Given the description of an element on the screen output the (x, y) to click on. 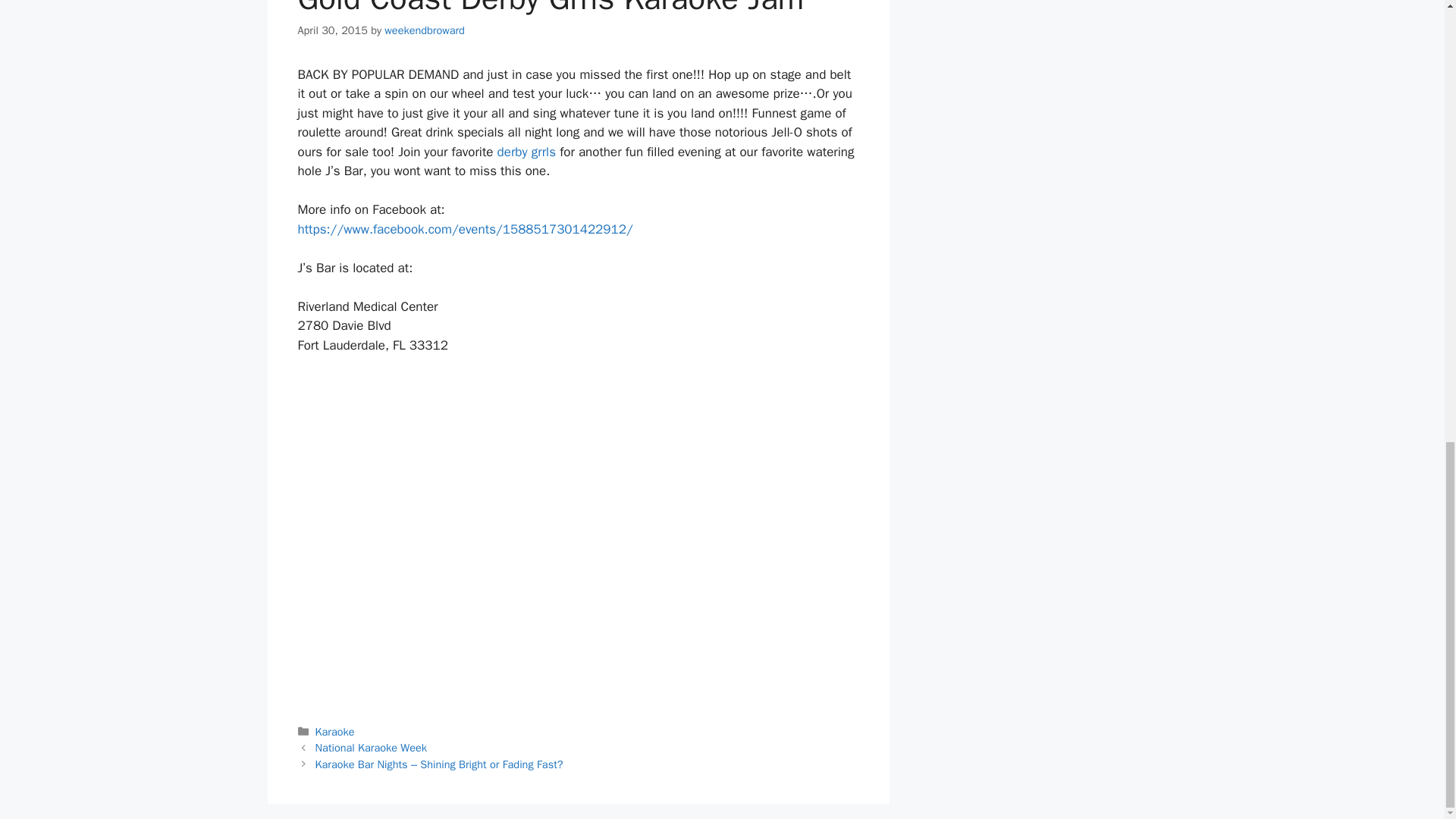
Karaoke (335, 731)
View all posts by weekendbroward (424, 29)
derby grrls (526, 151)
weekendbroward (424, 29)
National Karaoke Week (370, 747)
